Given the description of an element on the screen output the (x, y) to click on. 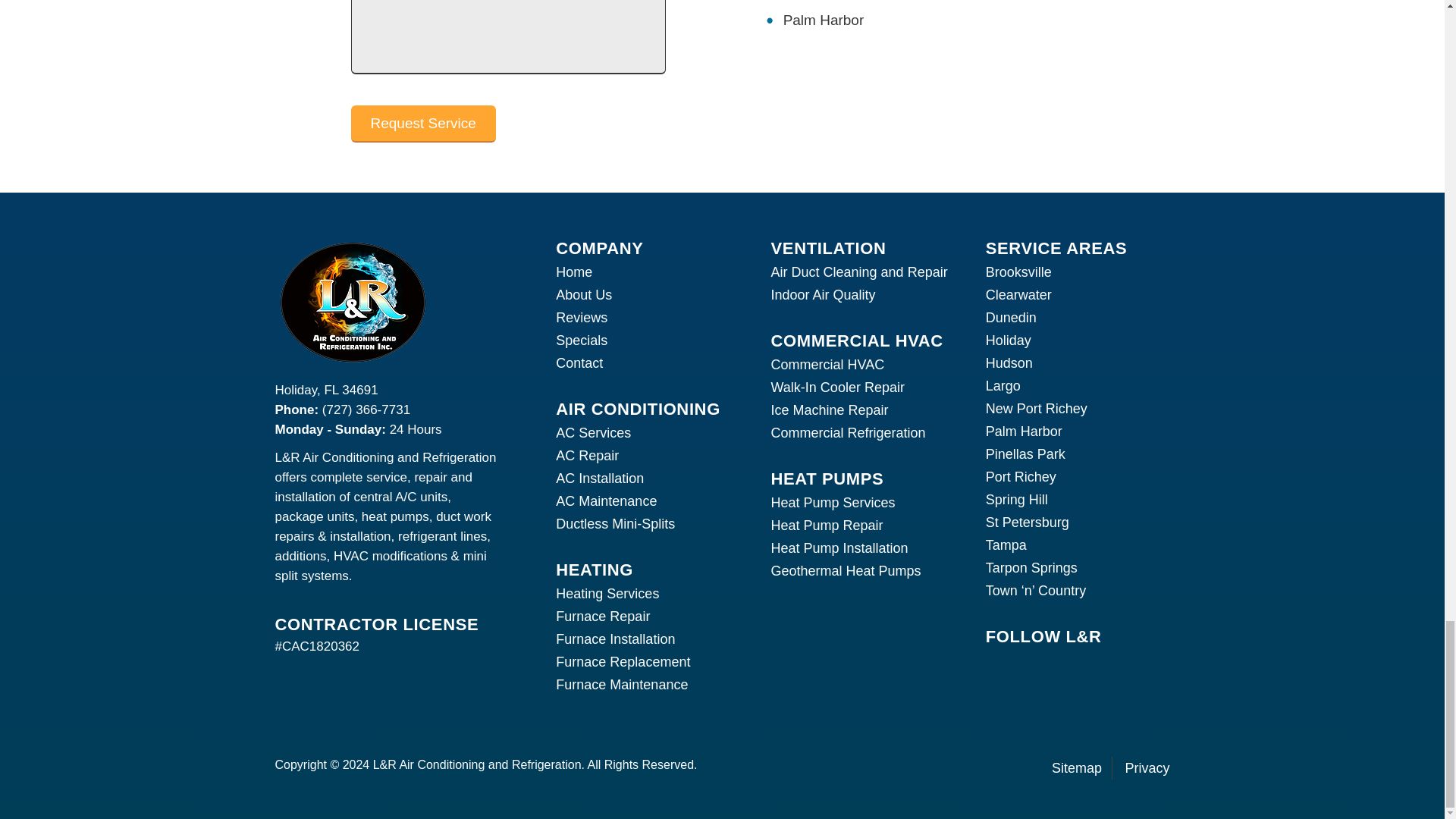
Request Service (422, 123)
